Given the description of an element on the screen output the (x, y) to click on. 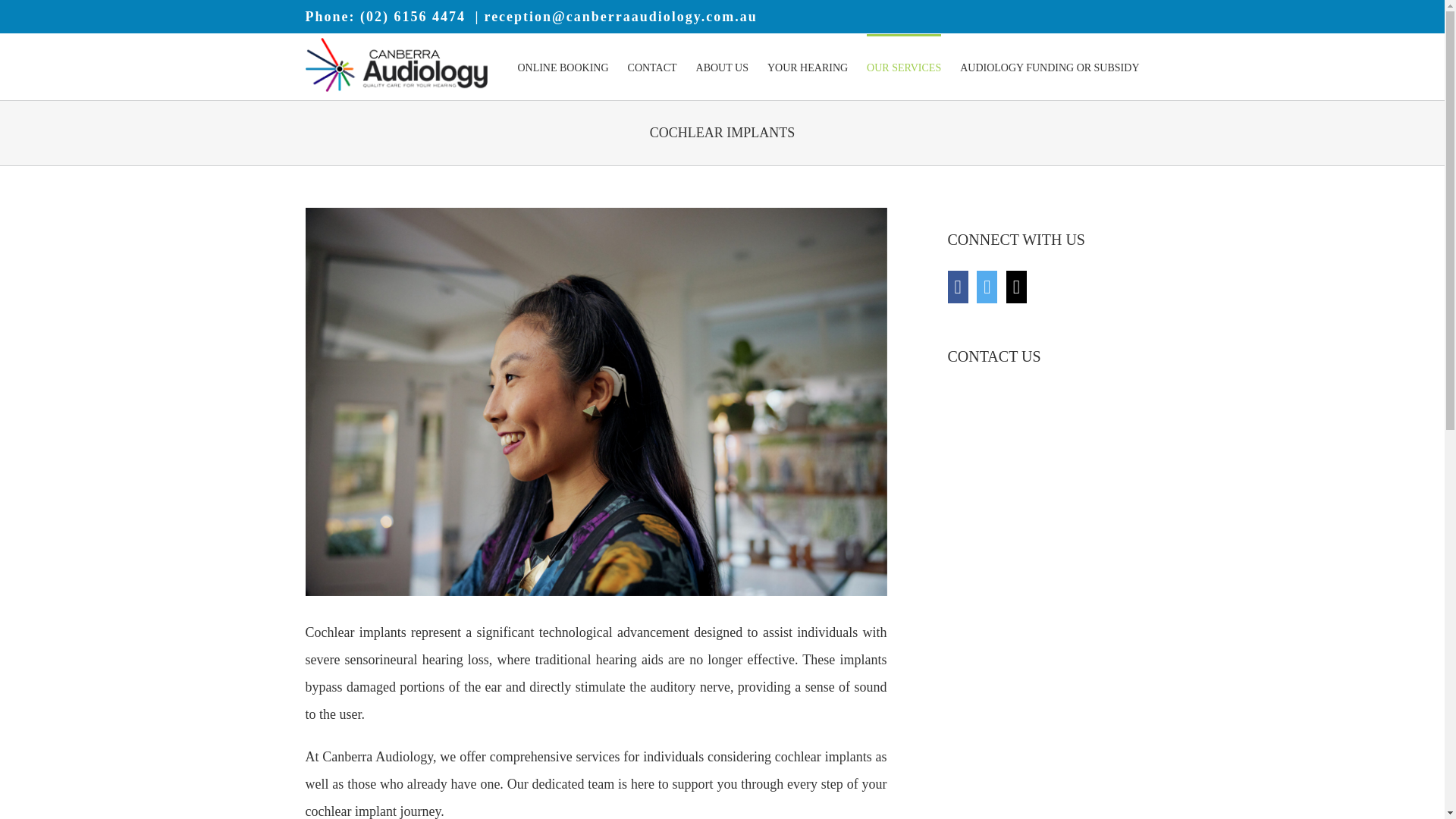
ONLINE BOOKING (562, 66)
AUDIOLOGY FUNDING OR SUBSIDY (1048, 66)
YOUR HEARING (807, 66)
OUR SERVICES (903, 66)
